Given the description of an element on the screen output the (x, y) to click on. 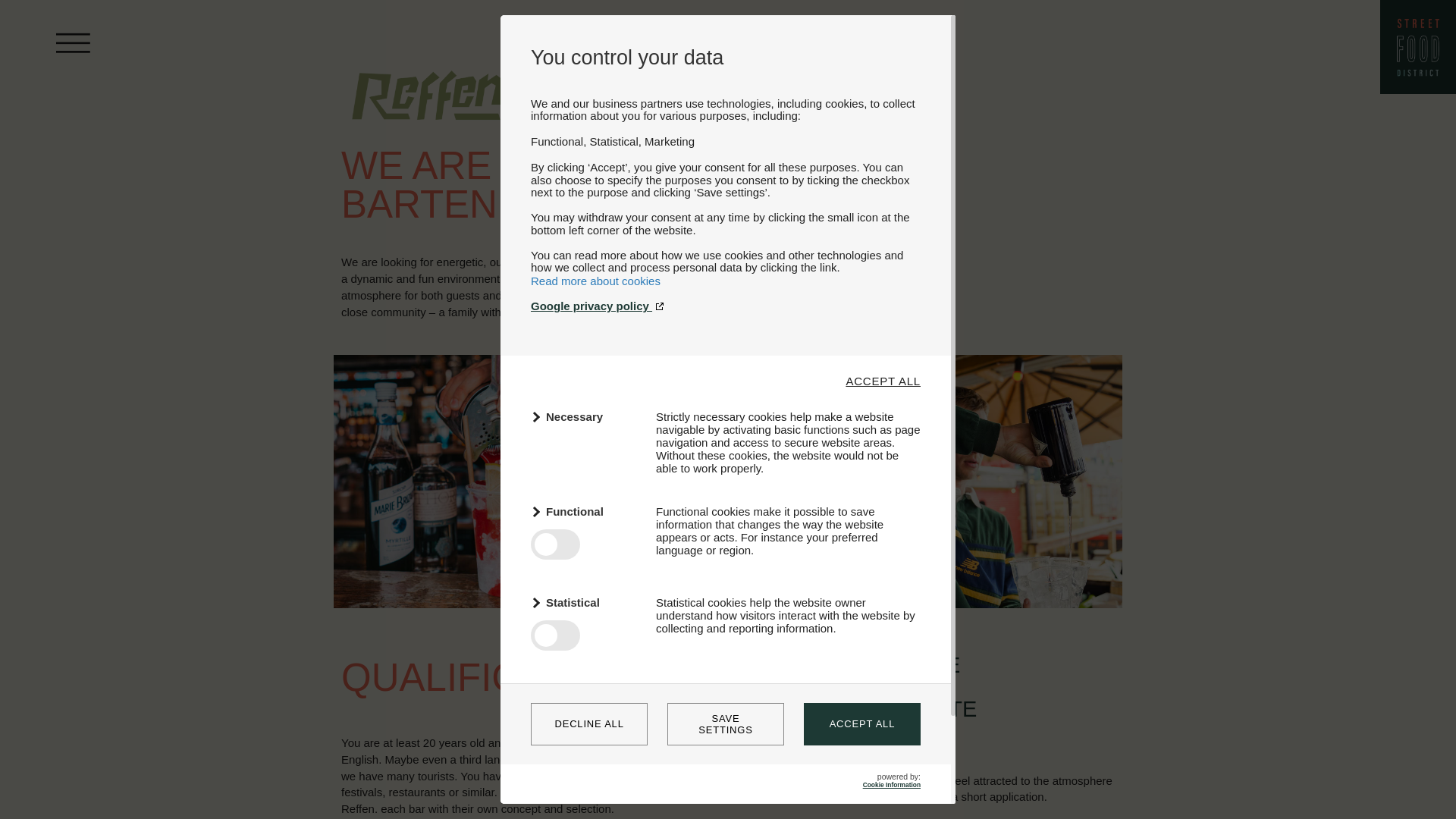
bartender (459, 480)
Necessary (584, 416)
Cookie Information (891, 784)
reffen (427, 111)
Google privacy policy (725, 305)
Read more about cookies (596, 280)
SAVE SETTINGS (725, 723)
ACCEPT ALL (882, 380)
Statistical (584, 602)
Functional (584, 511)
DECLINE ALL (589, 723)
ACCEPT ALL (861, 723)
Marketing (584, 693)
